Given the description of an element on the screen output the (x, y) to click on. 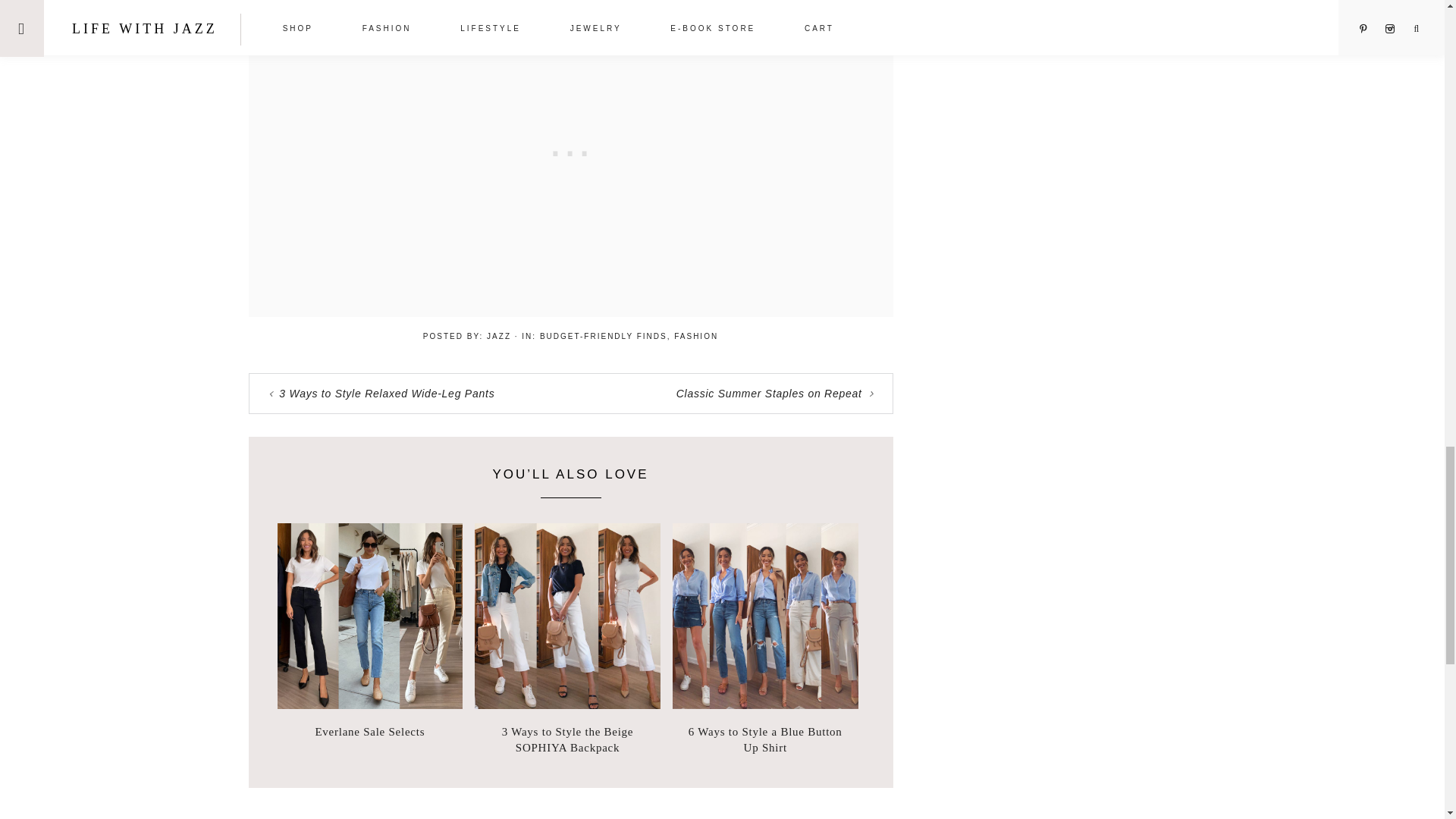
Permanent Link to 3 Ways to Style the Beige SOPHIYA Backpack (566, 739)
Permanent Link to 6 Ways to Style a Blue Button Up Shirt (765, 705)
Permanent Link to Everlane Sale Selects (370, 731)
Permanent Link to Everlane Sale Selects (370, 705)
Permanent Link to 3 Ways to Style the Beige SOPHIYA Backpack (567, 705)
Permanent Link to 6 Ways to Style a Blue Button Up Shirt (764, 739)
